Given the description of an element on the screen output the (x, y) to click on. 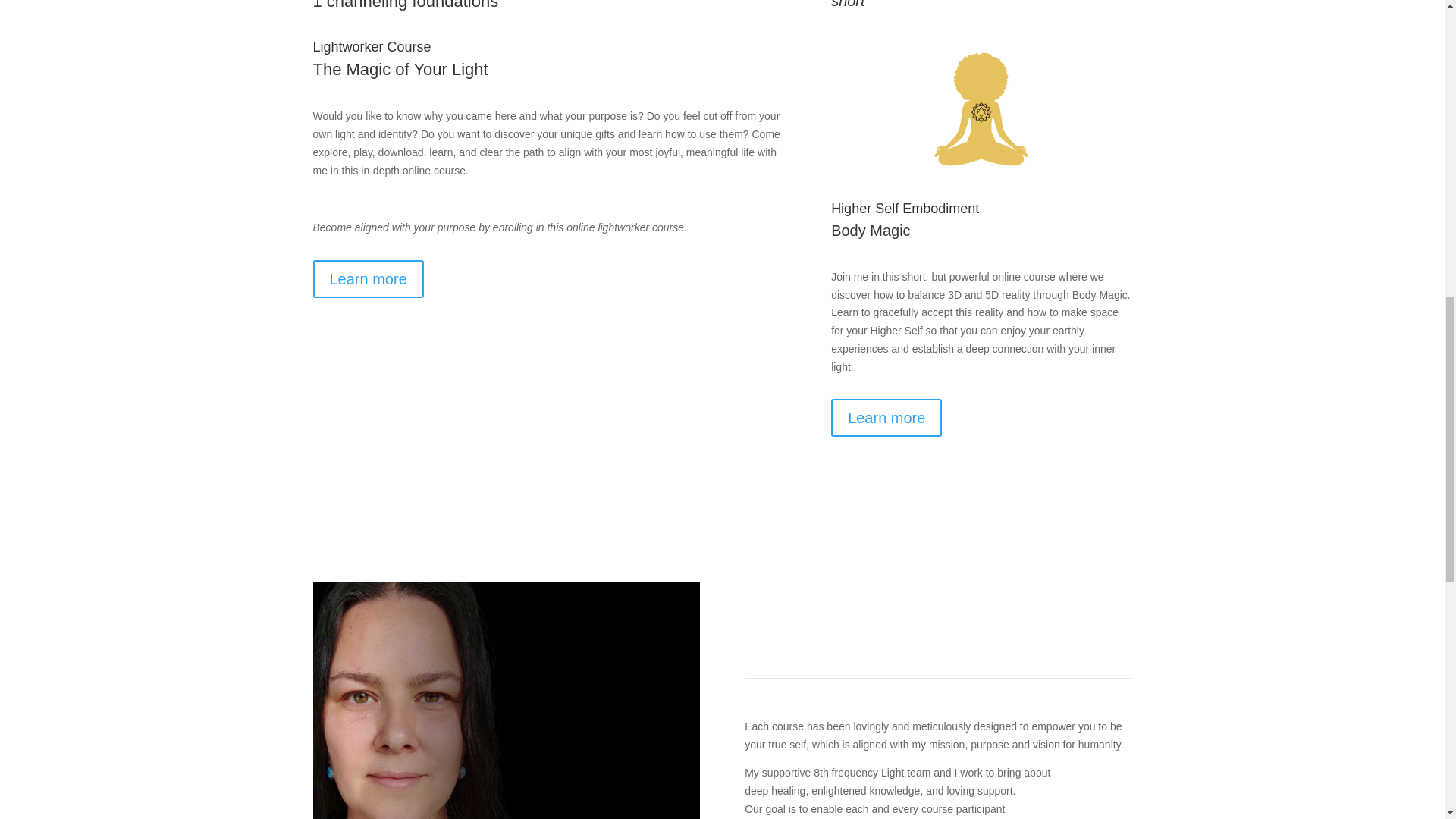
MMM My storty background 3 (981, 108)
Welcome newsletter main background 2 (505, 700)
Learn more (886, 417)
Learn more (368, 279)
